Given the description of an element on the screen output the (x, y) to click on. 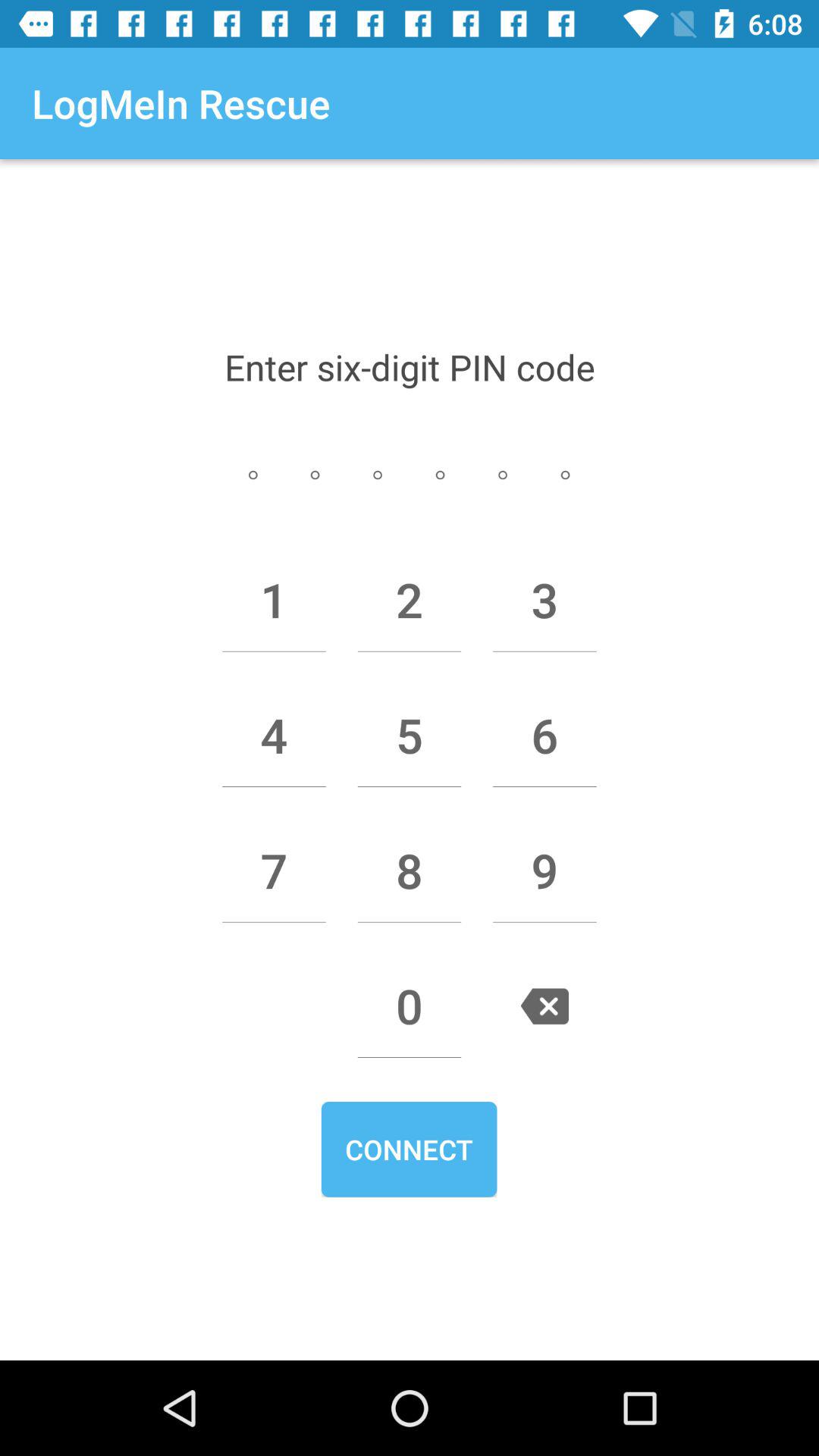
select icon next to the 7 item (409, 870)
